Given the description of an element on the screen output the (x, y) to click on. 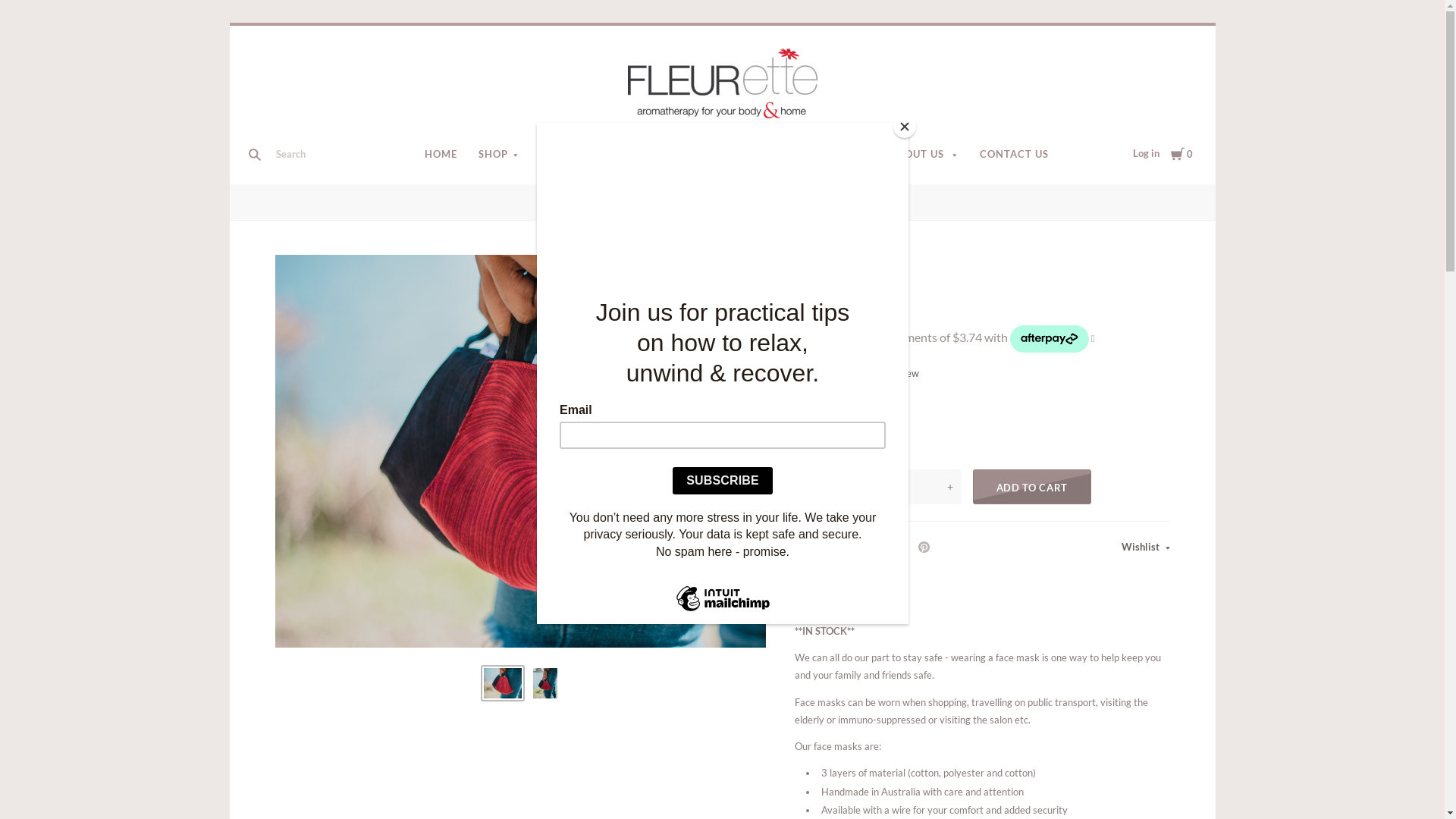
HOME Element type: text (440, 154)
ADD TO CART Element type: text (1031, 486)
SHOP Element type: text (498, 154)
WHOLESALE Element type: text (786, 154)
Wishlist Element type: text (1144, 547)
Fleurette Reusable Face Mask Element type: hover (545, 683)
GIFT BOX COLLECTION Element type: text (663, 202)
Face Mask Element type: text (854, 202)
Cart
0 Element type: text (1181, 153)
CORPORATE GIFTING Element type: text (597, 154)
CONTACT US Element type: text (1014, 154)
Fleurette Reusable Face Mask Element type: hover (519, 450)
Home Element type: text (581, 202)
STOCKISTS Element type: text (703, 154)
Log in Element type: text (1145, 152)
Fleurette Reusable Face Mask Element type: hover (502, 683)
Overview Element type: text (817, 593)
BLOG Element type: text (854, 154)
leave a review Element type: text (887, 373)
ABOUT US Element type: text (924, 154)
Lockdown Iso Care Element type: text (775, 202)
